Given the description of an element on the screen output the (x, y) to click on. 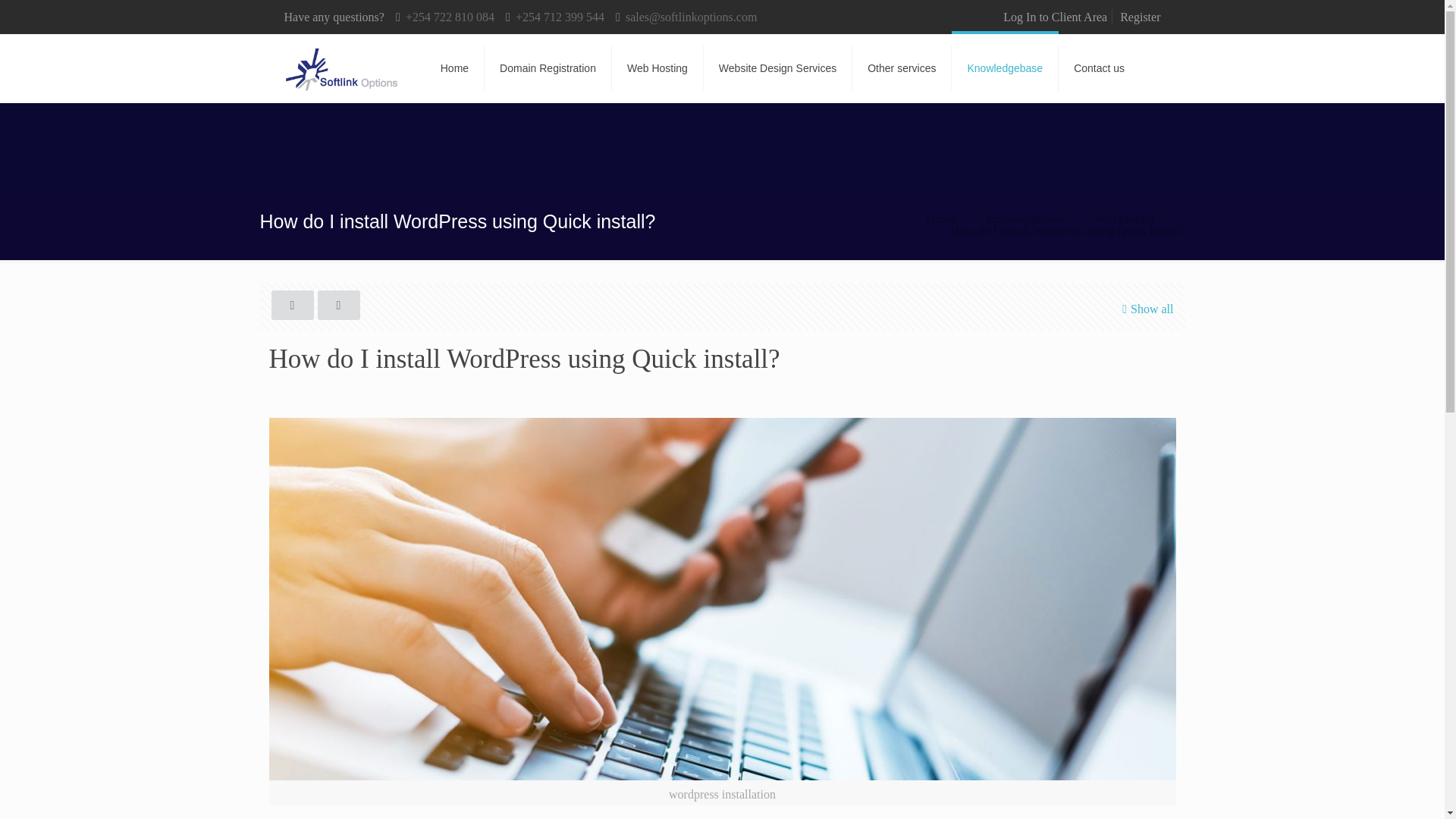
Softlink Options Limited (342, 68)
Website Design Services (777, 68)
Web Hosting (657, 68)
How do I install WordPress using Quick install? (1067, 230)
Knowledgebase (1005, 68)
Knowledgebase (1023, 218)
Home (940, 218)
Contact us (1099, 68)
Log In to Client Area (1054, 16)
Other services (901, 68)
